Given the description of an element on the screen output the (x, y) to click on. 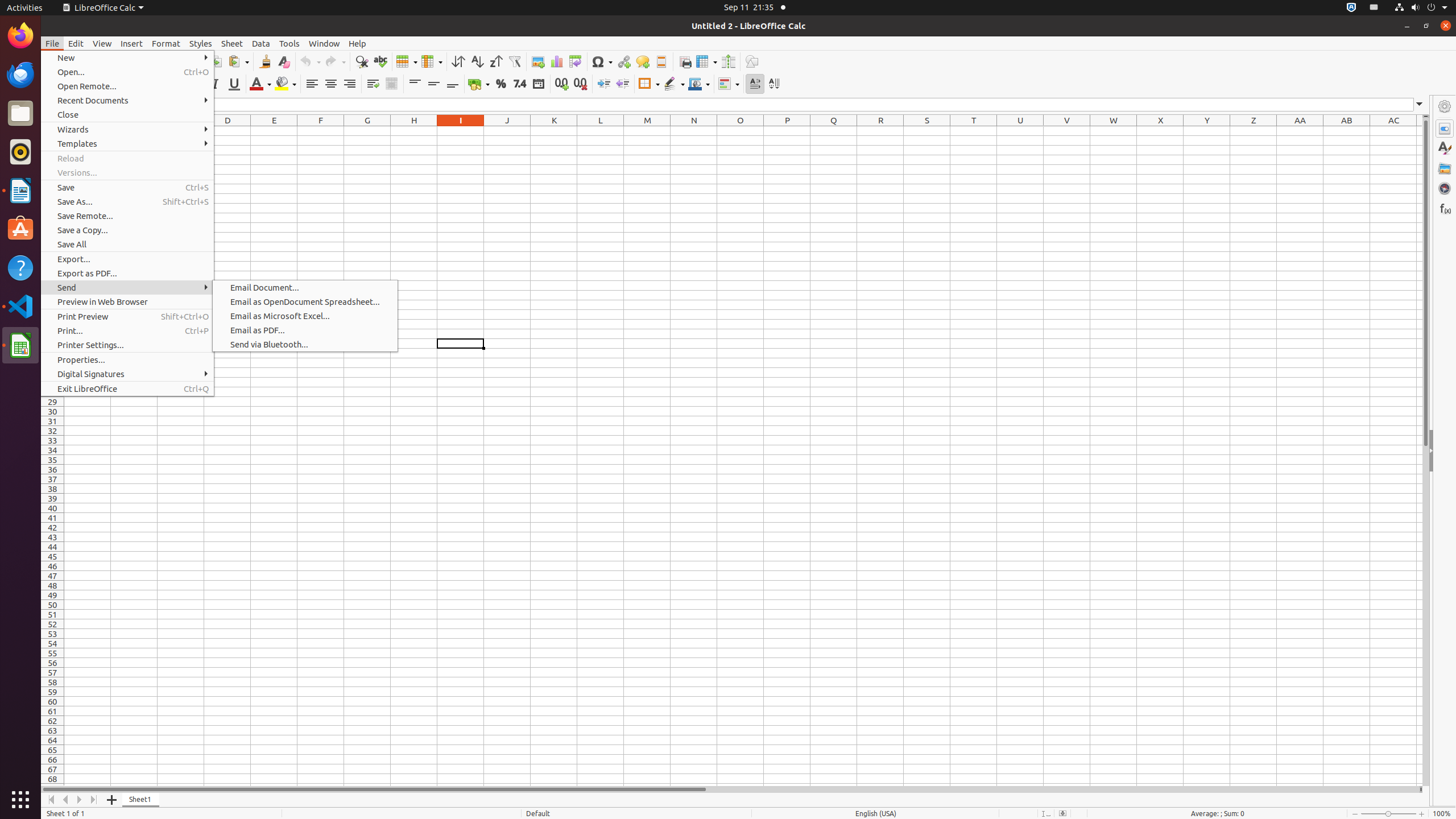
Date Element type: push-button (537, 83)
Pivot Table Element type: push-button (574, 61)
Wrap Text Element type: push-button (372, 83)
Data Element type: menu (260, 43)
Navigator Element type: radio-button (1444, 188)
